Given the description of an element on the screen output the (x, y) to click on. 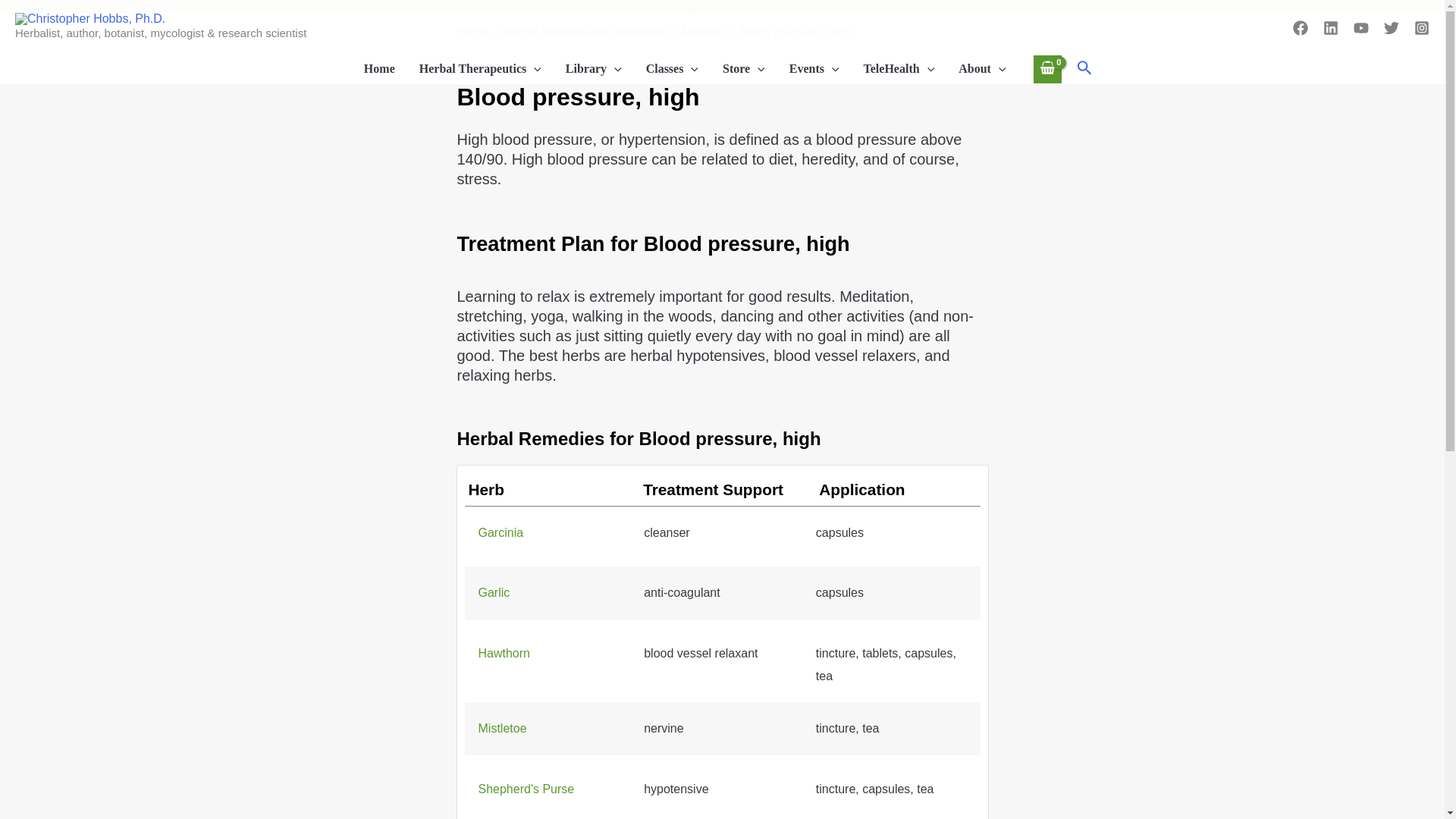
Library (593, 69)
Home (379, 69)
Herbal Therapeutics (480, 69)
